Given the description of an element on the screen output the (x, y) to click on. 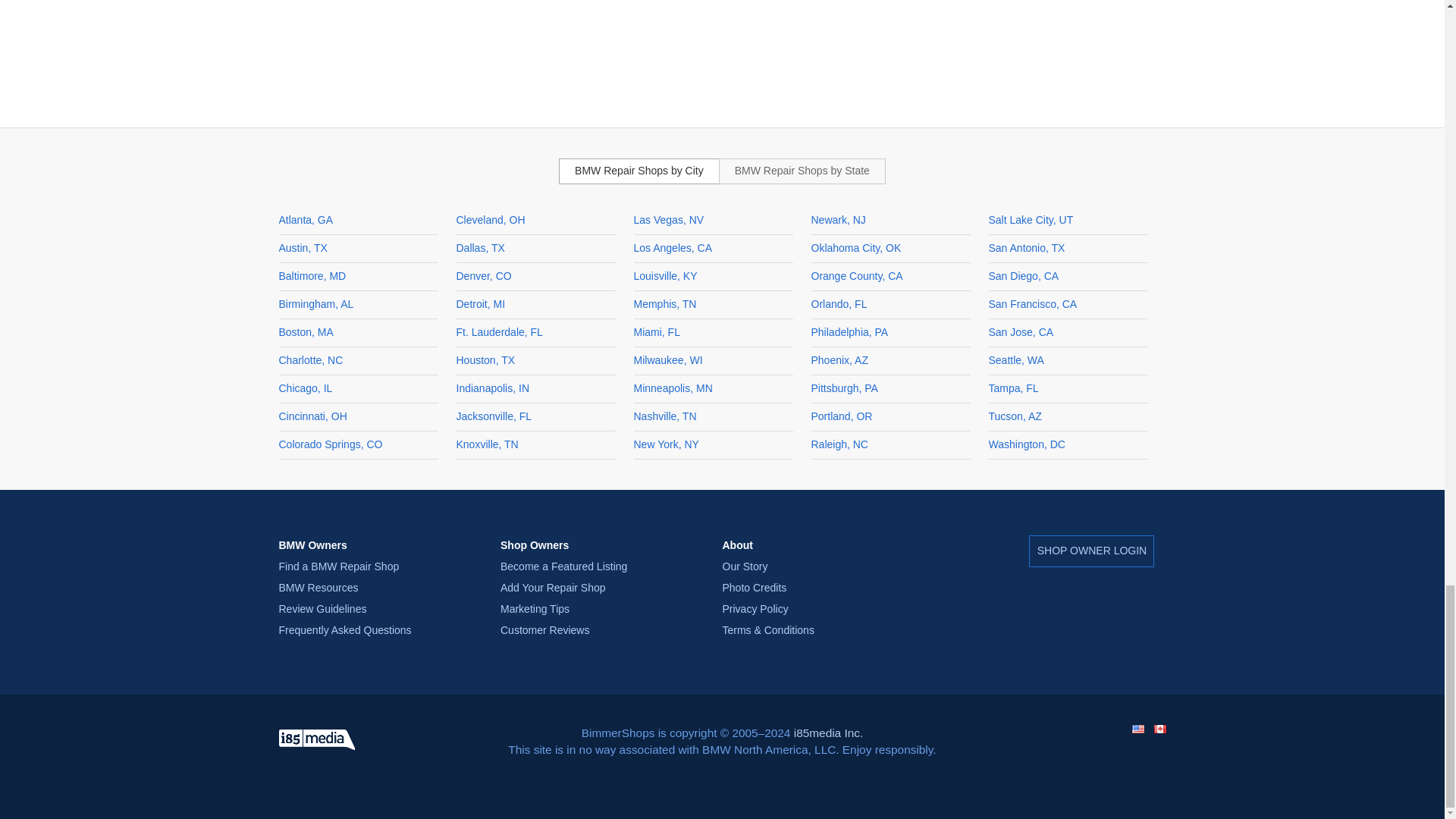
Boston, MA (306, 331)
i85media Inc. (317, 739)
Cincinnati, OH (313, 416)
BimmerShops US (1136, 728)
Baltimore, MD (312, 275)
Atlanta, GA (306, 219)
Charlotte, NC (311, 359)
BimmerShops Canada (1160, 728)
BMW Repair Shops by State (802, 171)
Austin, TX (303, 247)
